Given the description of an element on the screen output the (x, y) to click on. 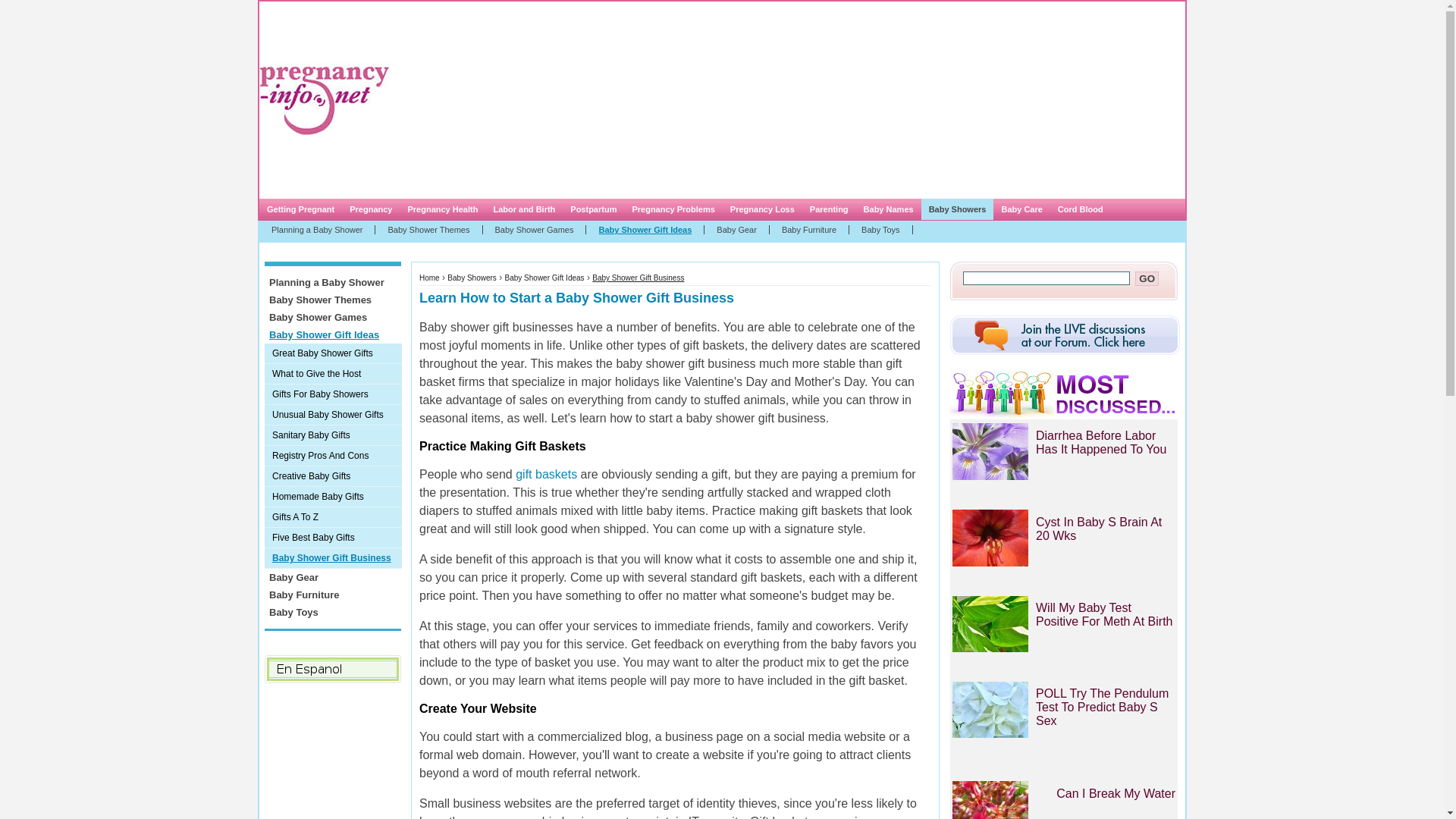
Baby Care (1020, 209)
Pregnancy Info HOME (350, 38)
Baby Shower Gift Ideas (645, 229)
Parenting (829, 209)
Baby Furniture (809, 229)
gift baskets (545, 473)
3rd party ad content (324, 751)
Gifts For Baby Showers (332, 394)
Baby Shower Games (533, 229)
Baby Shower Gift Ideas (545, 277)
Baby Shower Themes (331, 299)
Baby Names (888, 209)
Baby Shower Gift Business (638, 277)
Baby Shower Games (331, 316)
GO (1146, 278)
